Given the description of an element on the screen output the (x, y) to click on. 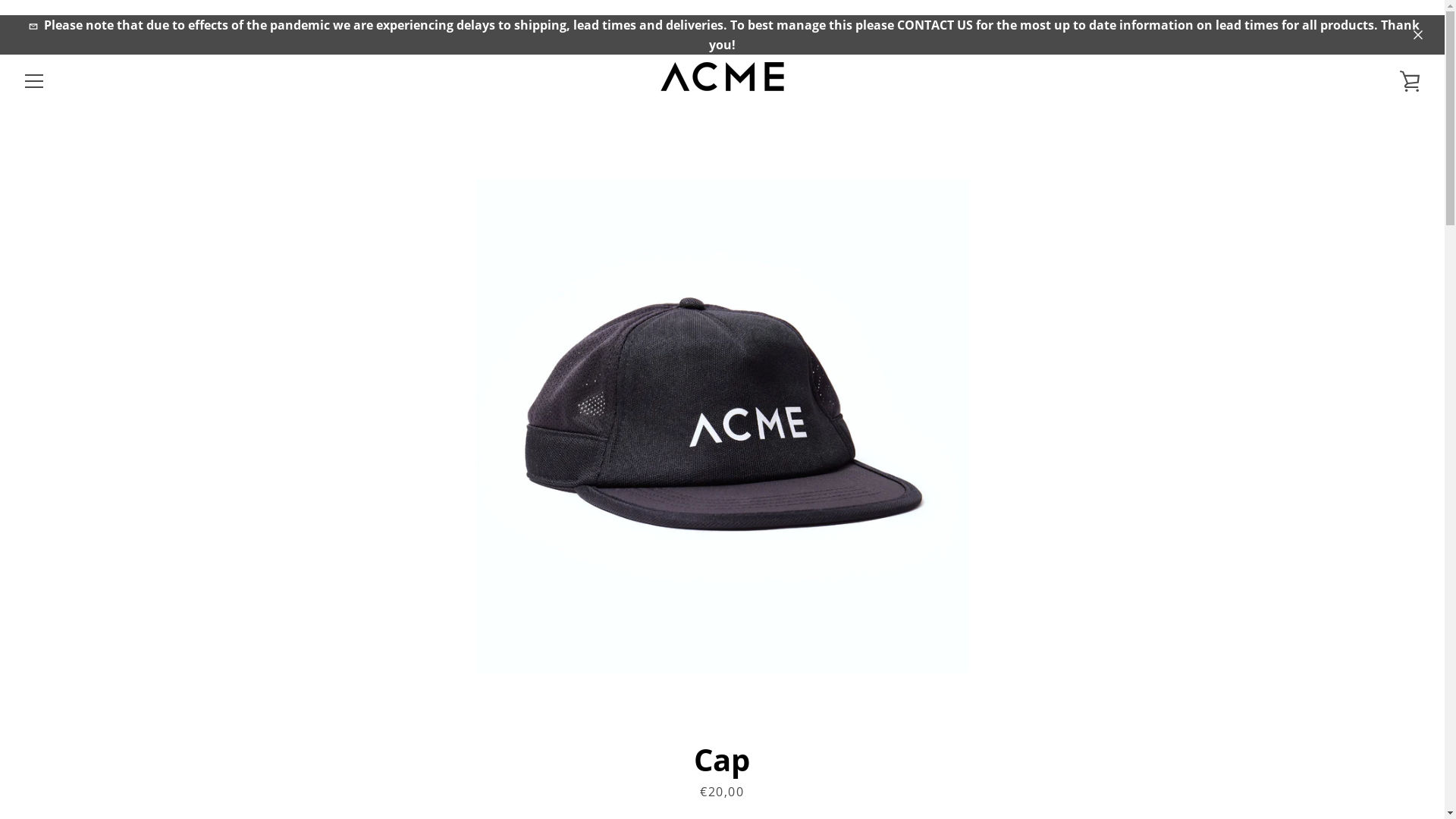
Skip to content Element type: text (0, 15)
MENU Element type: text (34, 81)
VIEW CART Element type: text (1410, 81)
